Given the description of an element on the screen output the (x, y) to click on. 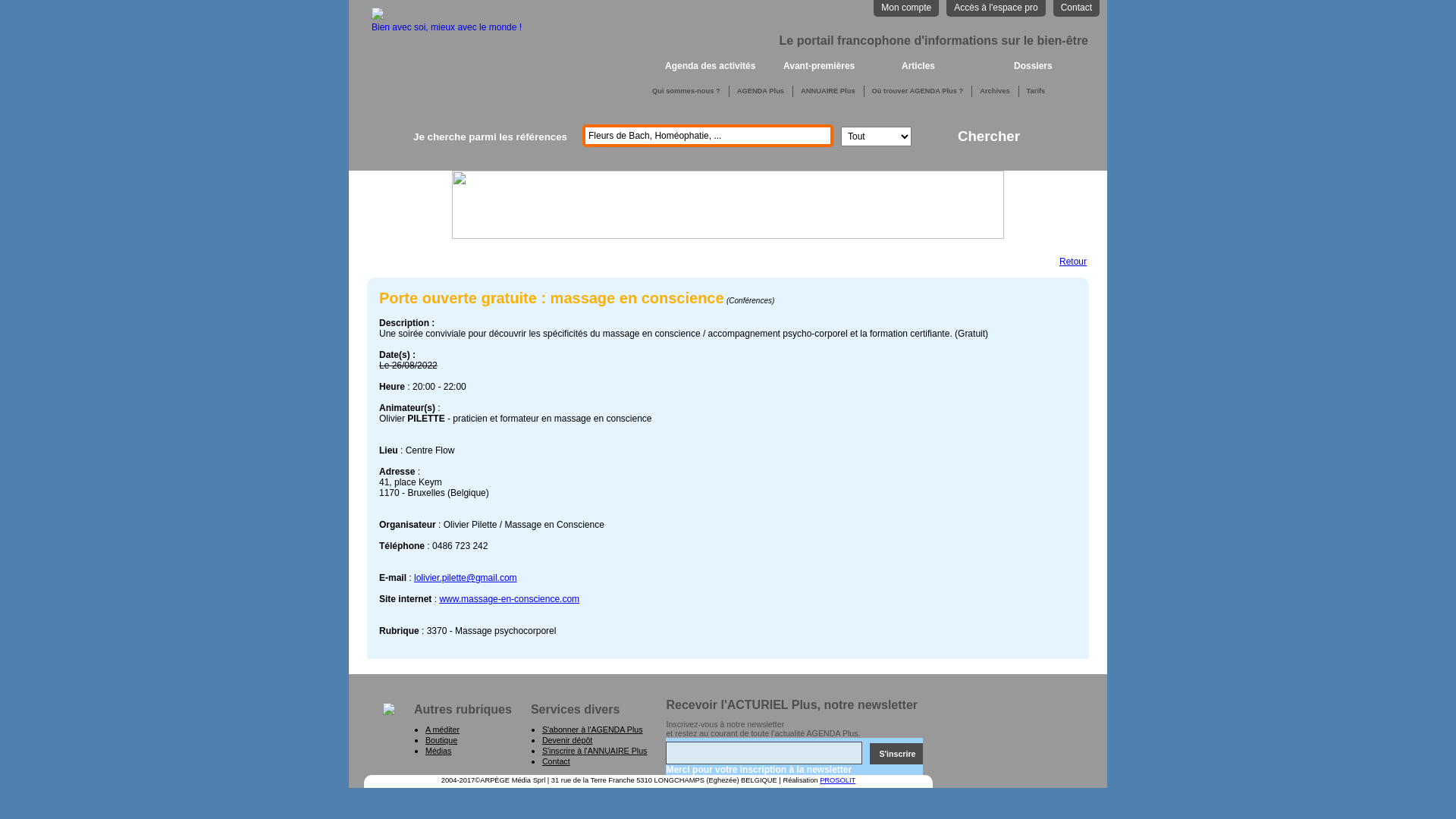
PROSOLIT Element type: text (837, 780)
Bien avec soi, mieux avec le monde ! Element type: text (446, 21)
 S'inscrire Element type: text (895, 753)
Boutique Element type: text (441, 739)
Contact Element type: text (1076, 8)
Archives Element type: text (994, 90)
Mon compte Element type: text (905, 8)
Annuaire Element type: text (1073, 190)
Dossiers Element type: text (1057, 66)
Contact Element type: text (556, 760)
www.massage-en-conscience.com Element type: text (509, 598)
  Element type: text (642, 66)
Qui sommes-nous ? Element type: text (686, 90)
ANNUAIRE Plus Element type: text (827, 90)
AGENDA Plus Element type: text (760, 90)
Retour Element type: text (1072, 261)
lolivier.pilette@gmail.com Element type: text (465, 577)
Tarifs Element type: text (1036, 90)
Articles Element type: text (951, 66)
